Given the description of an element on the screen output the (x, y) to click on. 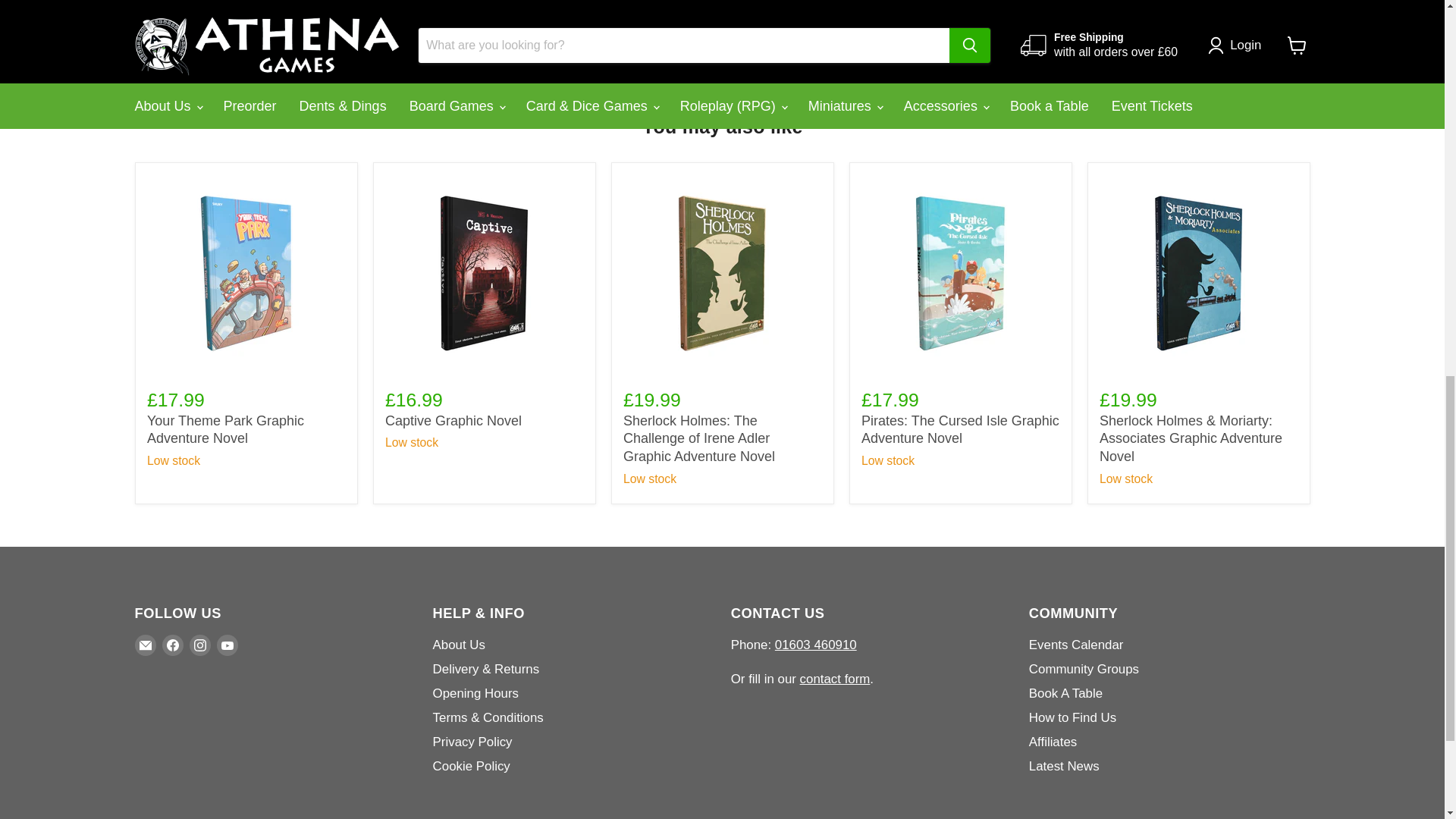
Email (145, 645)
tel:01603 460910 (815, 644)
Facebook (172, 645)
Instagram (200, 645)
Contact Us (834, 678)
YouTube (227, 645)
